Given the description of an element on the screen output the (x, y) to click on. 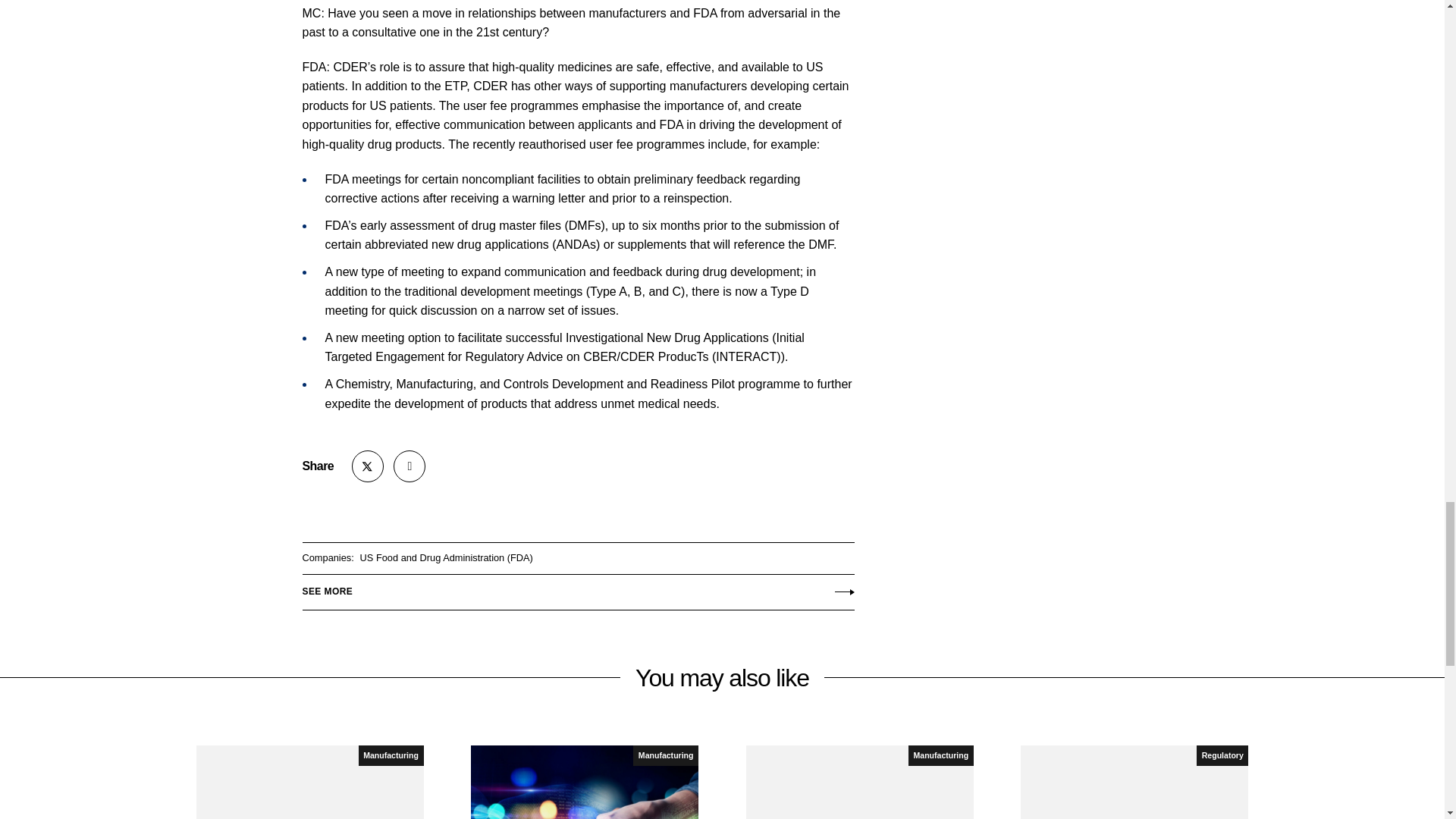
SEE MORE (577, 588)
Manufacturing (390, 755)
LinkedIn (409, 466)
Follow Manufacturing Chemist on LinkedIn (409, 466)
Follow Manufacturing Chemist on X (368, 466)
X (368, 466)
